Given the description of an element on the screen output the (x, y) to click on. 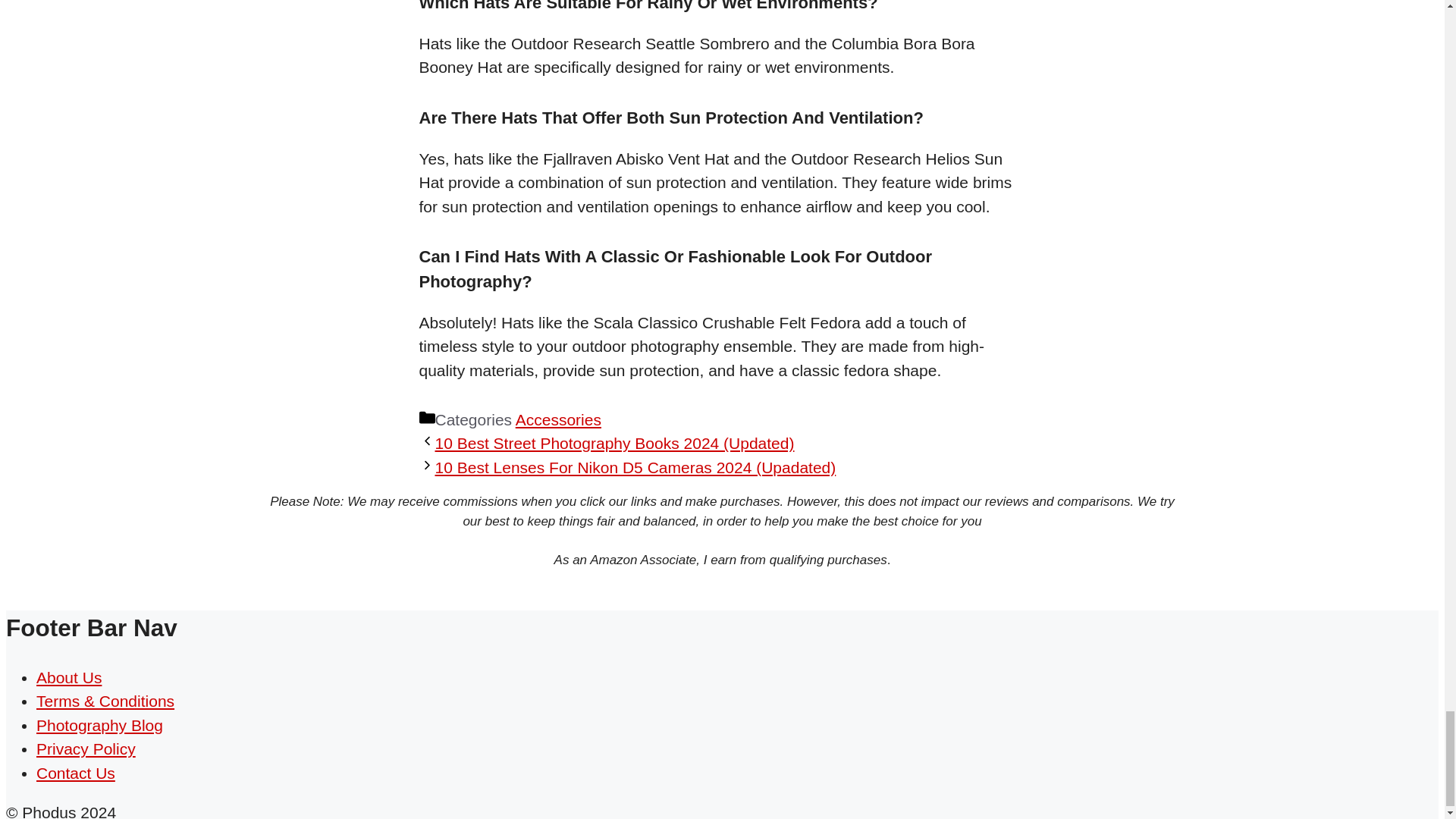
About Us (68, 677)
Privacy Policy (85, 748)
Contact Us (75, 773)
Accessories (558, 419)
Photography Blog (99, 724)
